Given the description of an element on the screen output the (x, y) to click on. 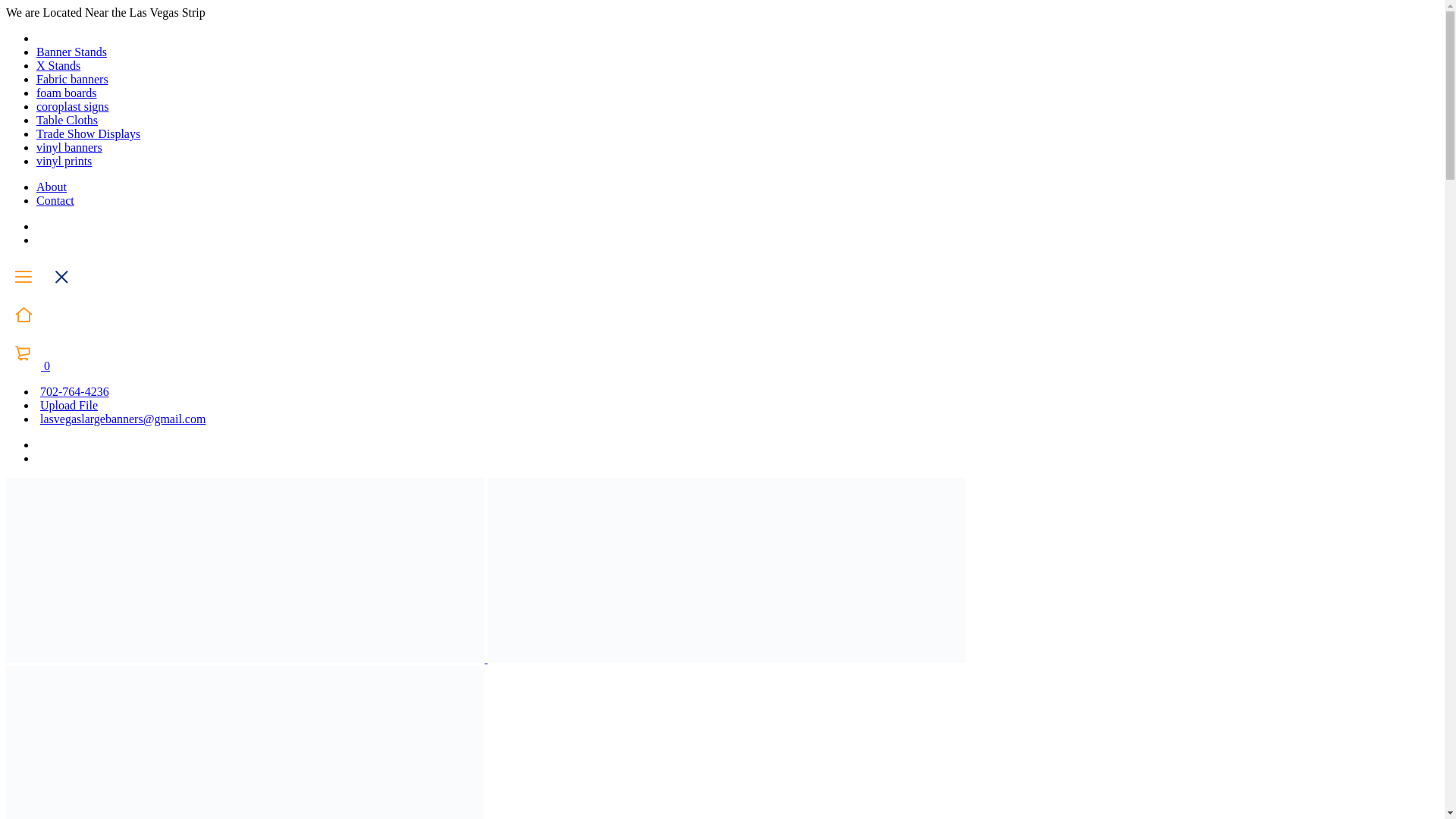
About (51, 186)
Las Vegas Large Banners (726, 569)
Las Vegas Large Banners (244, 569)
foam boards (66, 92)
Las Vegas Large Banners (244, 742)
Banner Stands (71, 51)
702-764-4236 (72, 391)
vinyl banners (68, 146)
Contact (55, 200)
View your shopping cart (27, 365)
Trade Show Displays (87, 133)
Fabric banners (71, 78)
X Stands (58, 65)
vinyl prints (63, 160)
Table Cloths (66, 119)
